Given the description of an element on the screen output the (x, y) to click on. 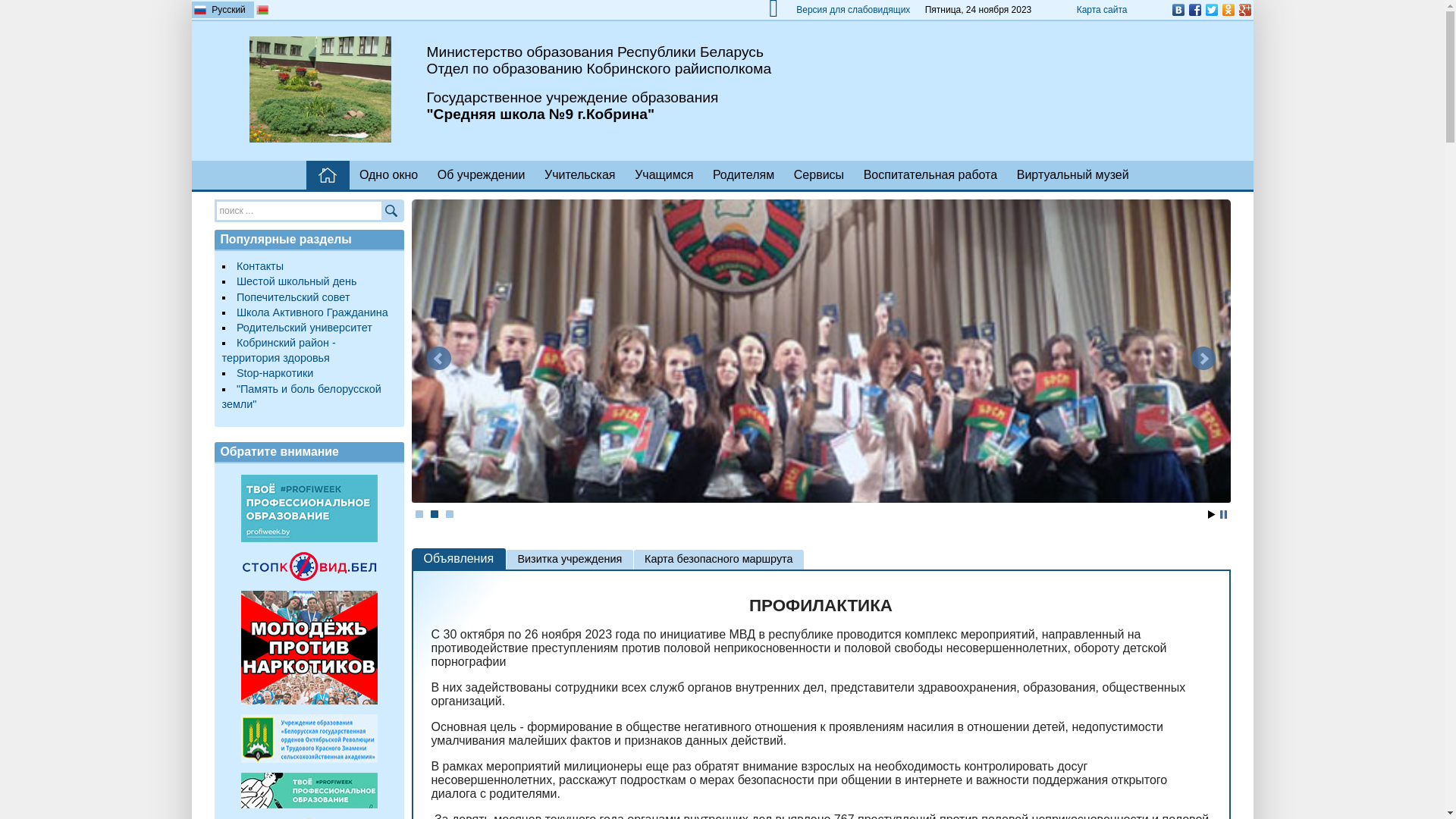
2 Element type: text (434, 513)
Start Element type: text (1210, 514)
Facebook Element type: hover (1194, 9)
Google Plus Element type: hover (1244, 9)
  Element type: text (328, 174)
1 Element type: text (419, 513)
Stop Element type: text (1222, 514)
Twitter Element type: hover (1210, 9)
Prev Element type: text (438, 358)
3 Element type: text (449, 513)
Next Element type: text (1202, 358)
